Given the description of an element on the screen output the (x, y) to click on. 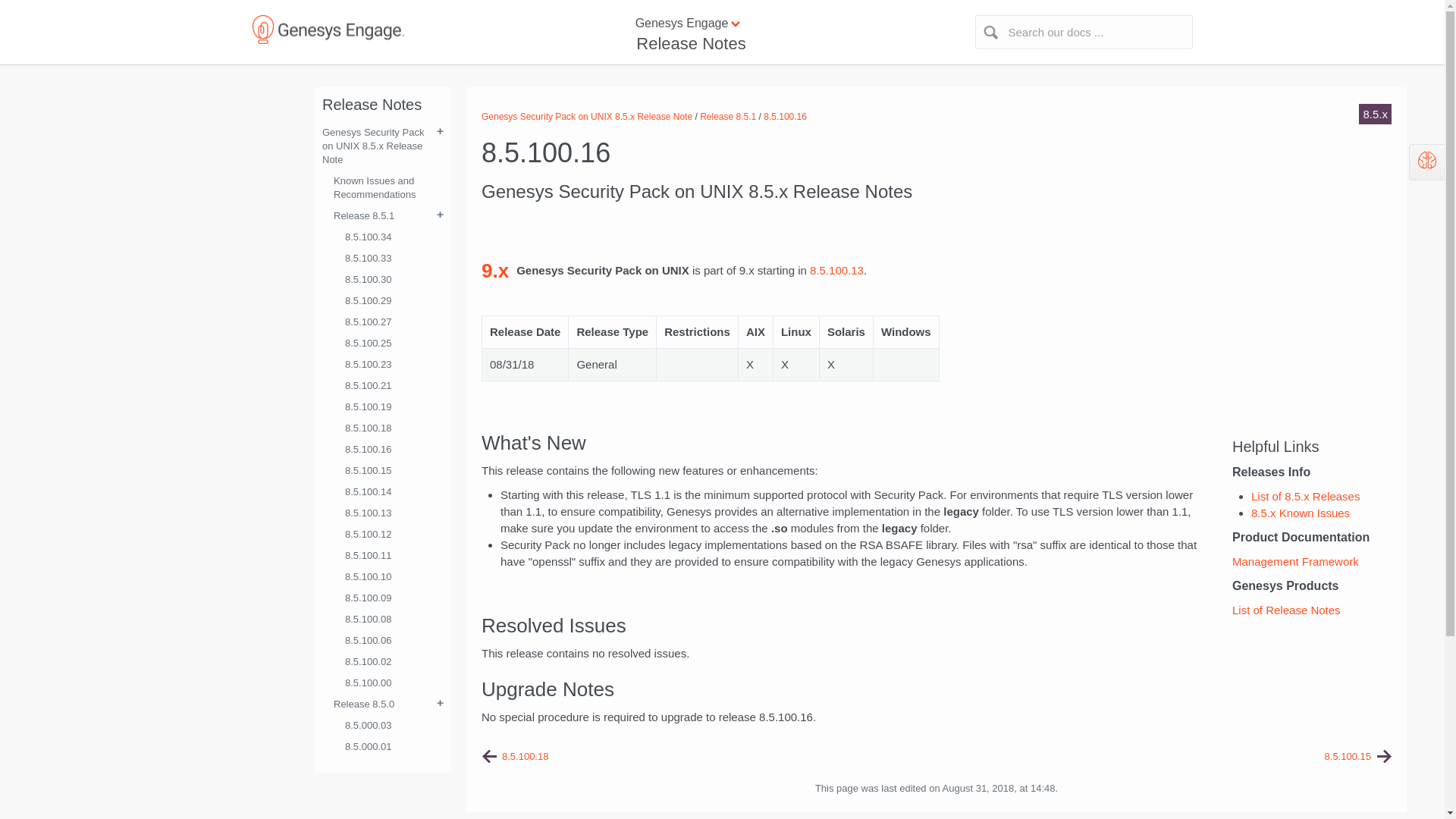
Release Notes (688, 43)
Search Genesys Documentation (1083, 32)
Documentation:RN:scr-pack85rn:scr-pack85KI:8.5.x (1299, 512)
Documentation:RN:scr-pack85rn:scr-pack85rn:8.5.x (1304, 495)
Click to expand (721, 23)
Documentation:RN:scr-pack85rn:scr-pack8510013:8.5.x (836, 269)
